Given the description of an element on the screen output the (x, y) to click on. 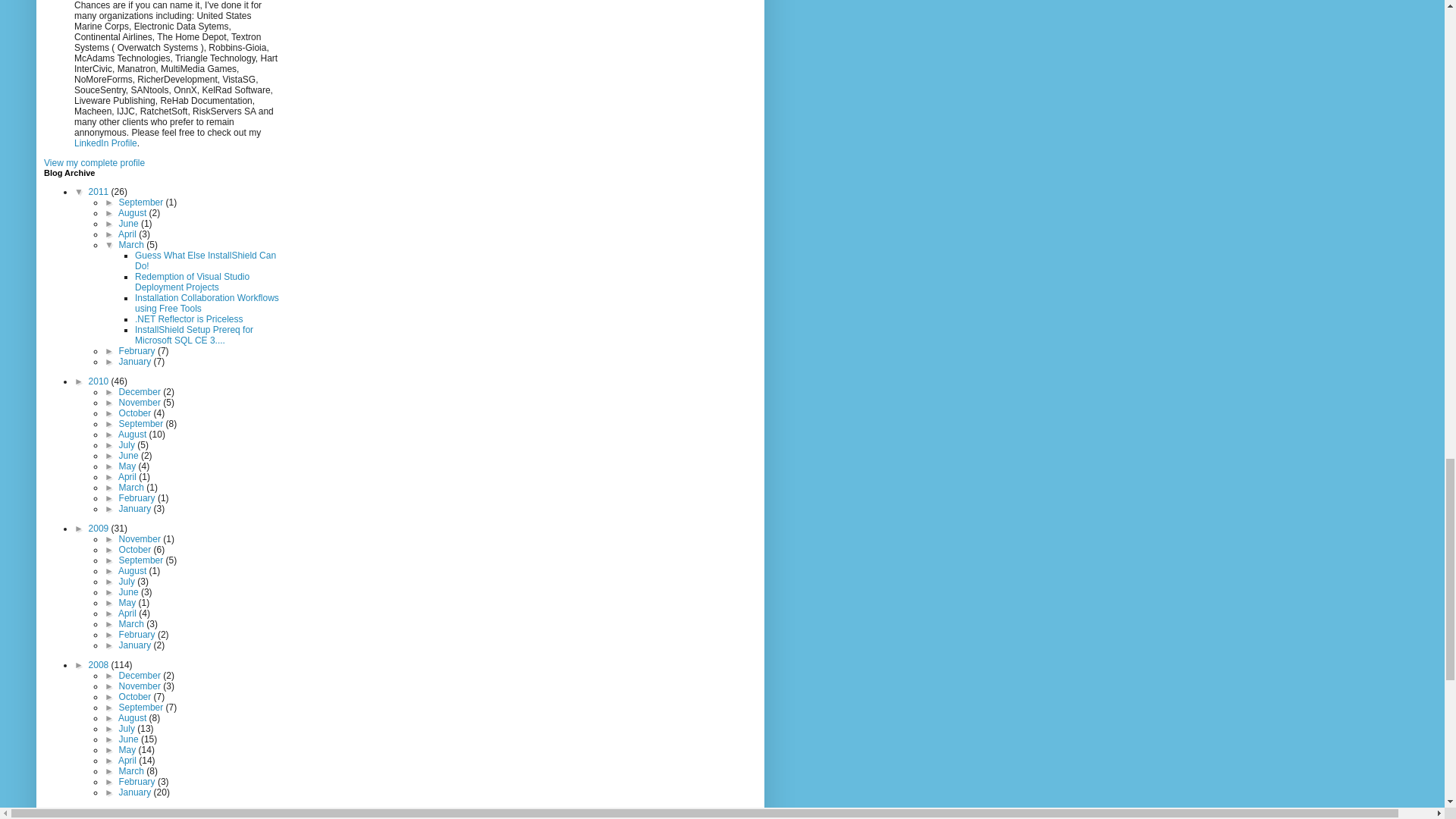
June (130, 223)
August (133, 213)
LinkedIn Profile (105, 143)
View my complete profile (93, 163)
2011 (100, 191)
September (142, 202)
April (127, 234)
